Given the description of an element on the screen output the (x, y) to click on. 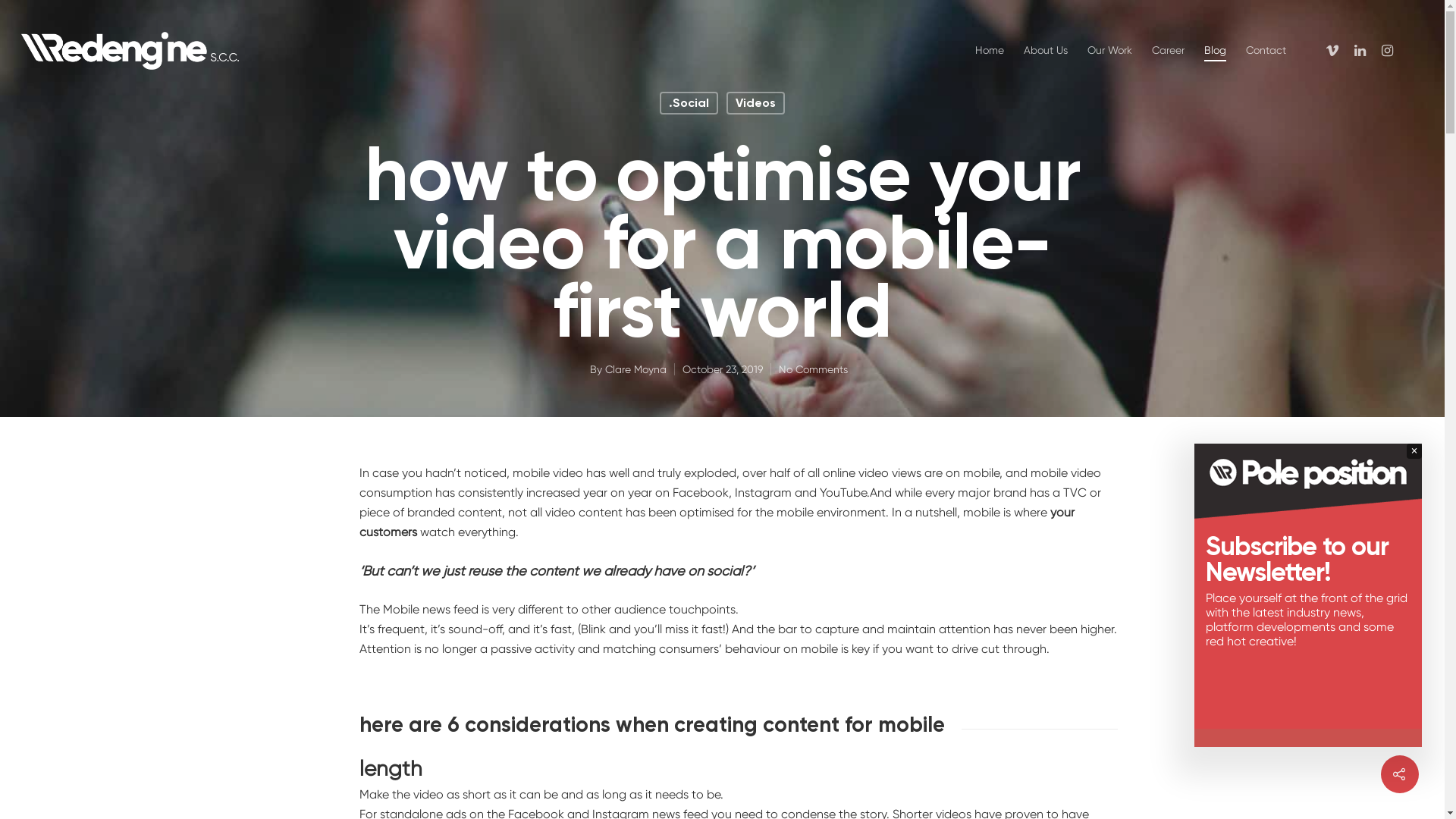
.Social Element type: text (688, 102)
About Us Element type: text (1045, 50)
Career Element type: text (1167, 50)
Blog Element type: text (1215, 50)
Our Work Element type: text (1109, 50)
Clare Moyna Element type: text (635, 368)
Videos Element type: text (755, 102)
Home Element type: text (989, 50)
Contact Element type: text (1265, 50)
No Comments Element type: text (812, 368)
